Given the description of an element on the screen output the (x, y) to click on. 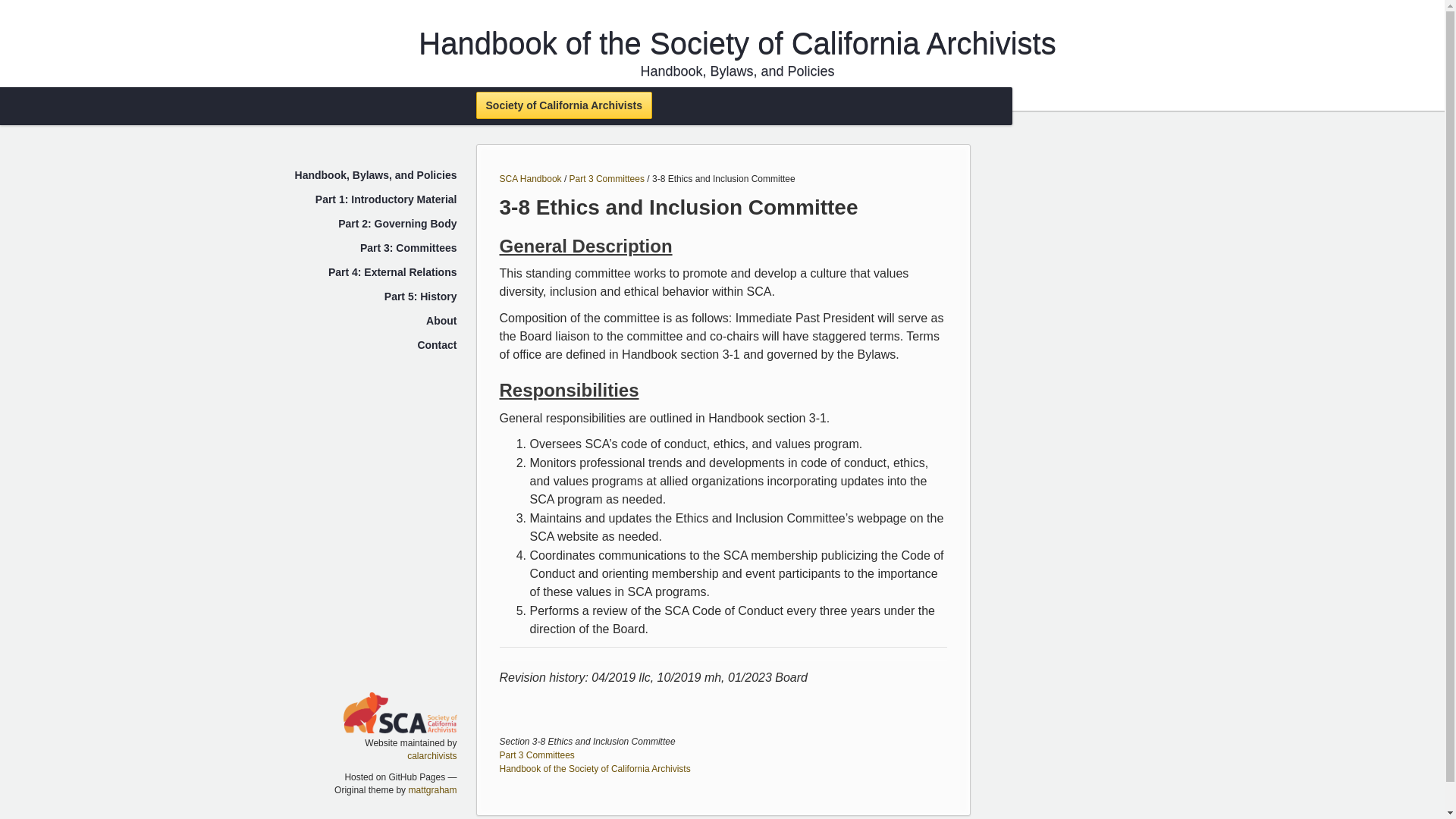
Society of California Archivists (564, 104)
Part 5: History (420, 296)
About (441, 320)
Part 3: Committees (408, 247)
Contact (436, 345)
Part 4: External Relations (393, 272)
Part 2: Governing Body (397, 223)
Handbook, Bylaws, and Policies (737, 70)
Part 3 Committees (607, 178)
Handbook, Bylaws, and Policies (376, 174)
